Given the description of an element on the screen output the (x, y) to click on. 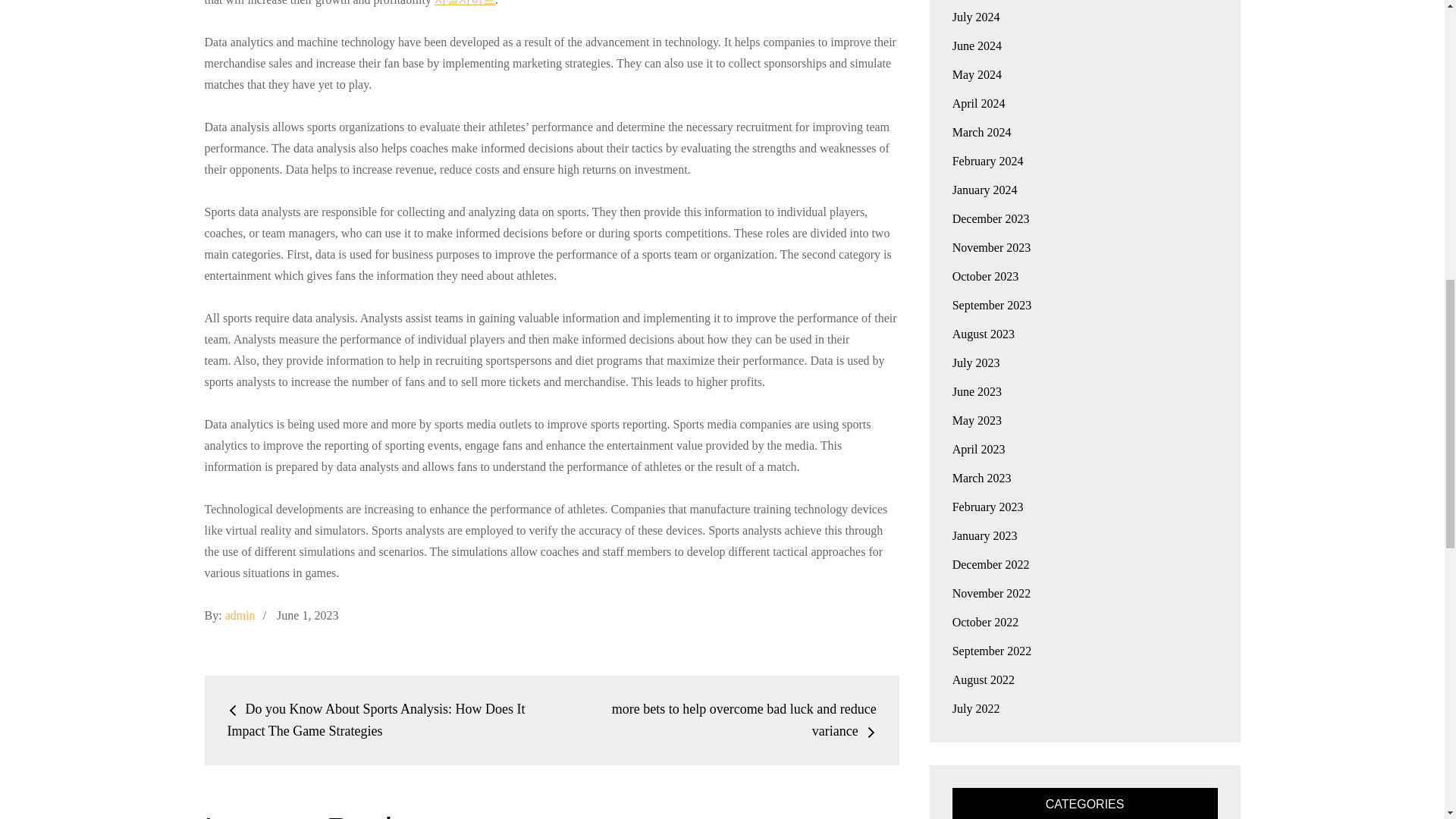
April 2024 (979, 103)
more bets to help overcome bad luck and reduce variance (743, 719)
February 2024 (987, 160)
June 2024 (976, 45)
August 2023 (983, 333)
December 2023 (990, 218)
September 2023 (991, 305)
November 2023 (991, 246)
January 2024 (984, 189)
June 1, 2023 (306, 615)
admin (240, 615)
July 2023 (976, 362)
May 2024 (976, 74)
March 2024 (981, 132)
